Given the description of an element on the screen output the (x, y) to click on. 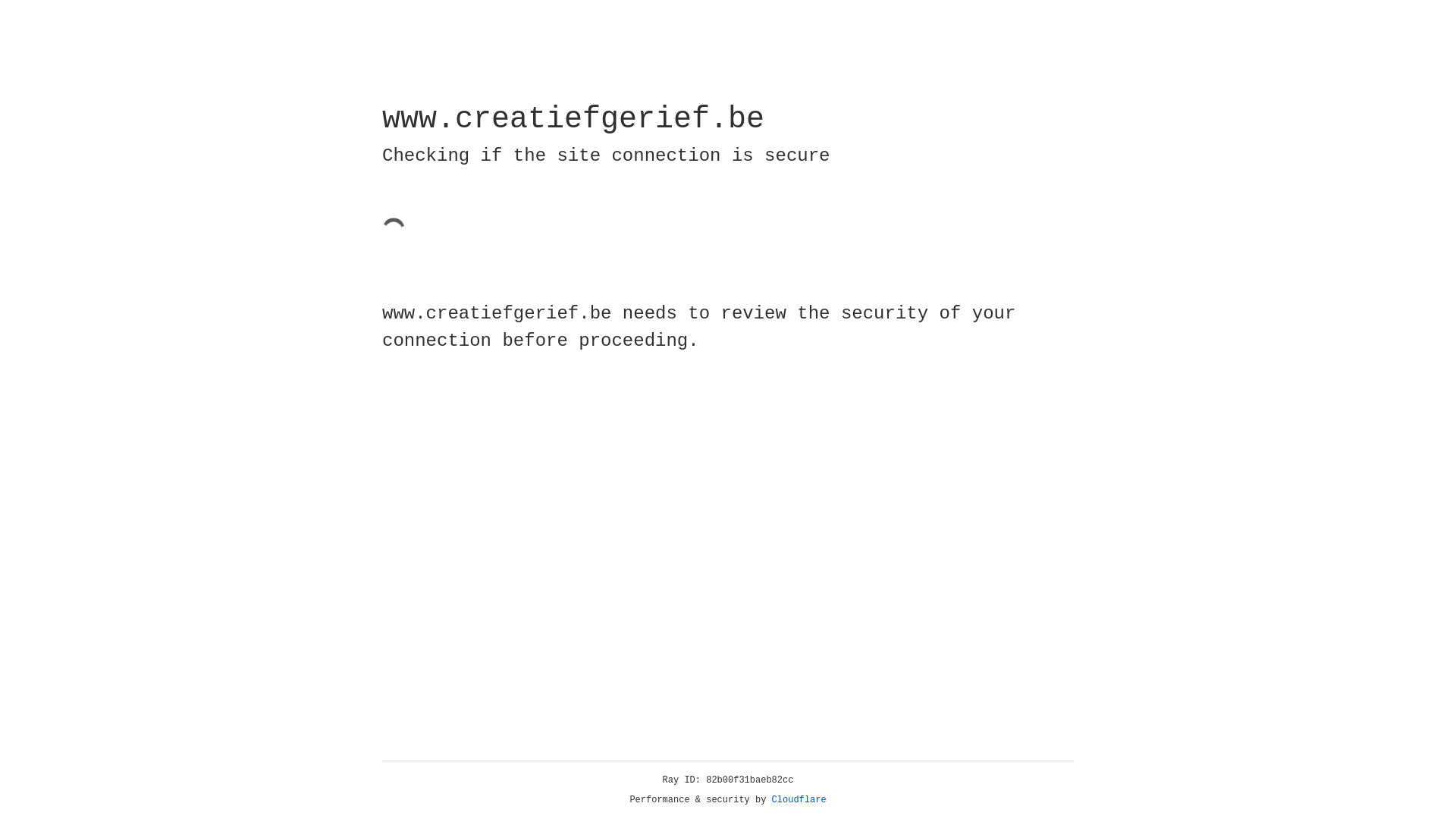
Cloudflare Element type: text (798, 799)
